Given the description of an element on the screen output the (x, y) to click on. 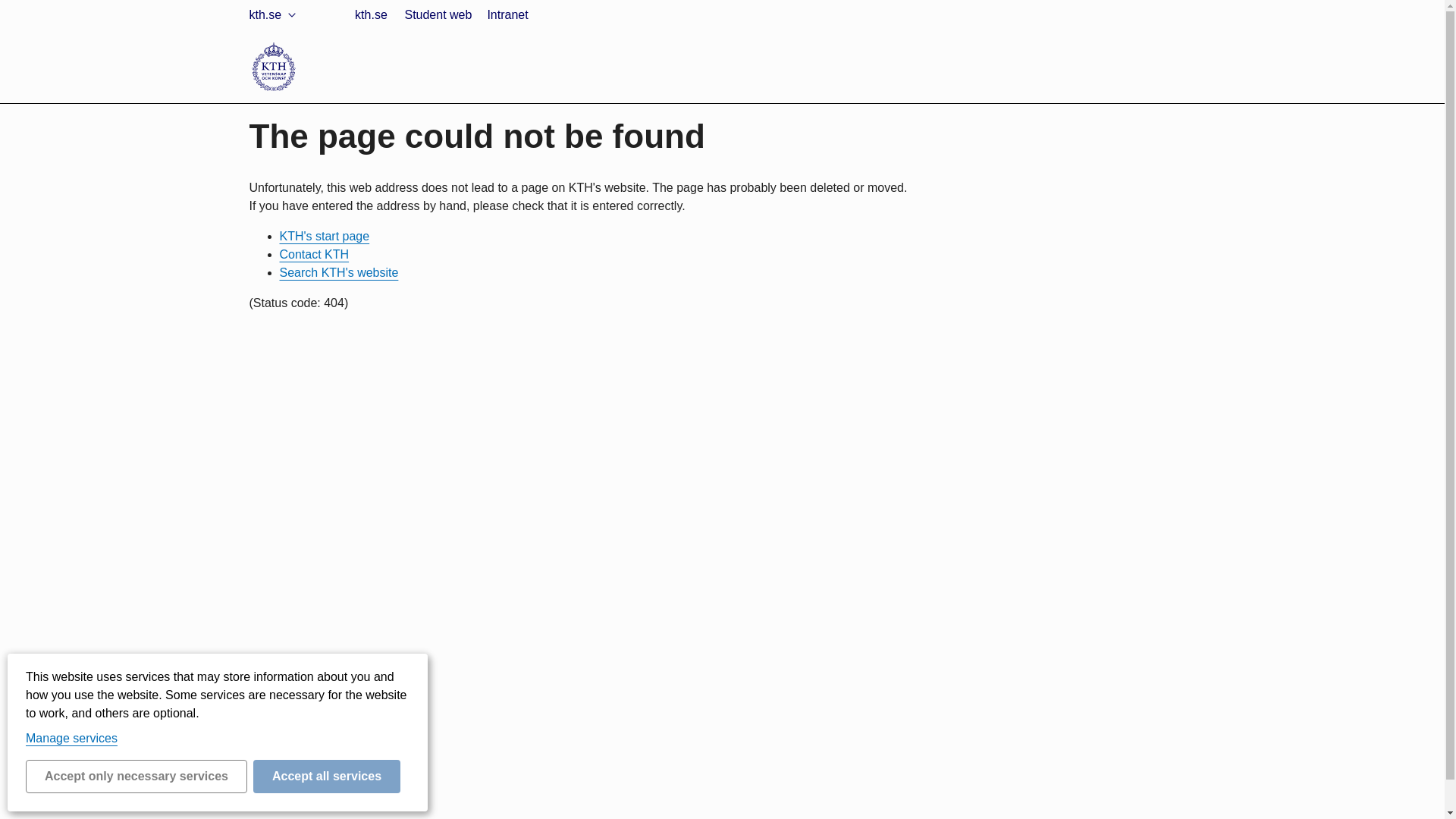
KTH's start page (324, 236)
Accept only necessary services (136, 776)
Contact KTH (314, 254)
kth.se (295, 51)
Manage services (71, 738)
Search KTH's website (338, 272)
Accept all services (326, 776)
kth.se (370, 15)
kth.se (273, 15)
Student web (312, 69)
Intranet (507, 15)
Intranet (299, 87)
Student web (437, 15)
